Given the description of an element on the screen output the (x, y) to click on. 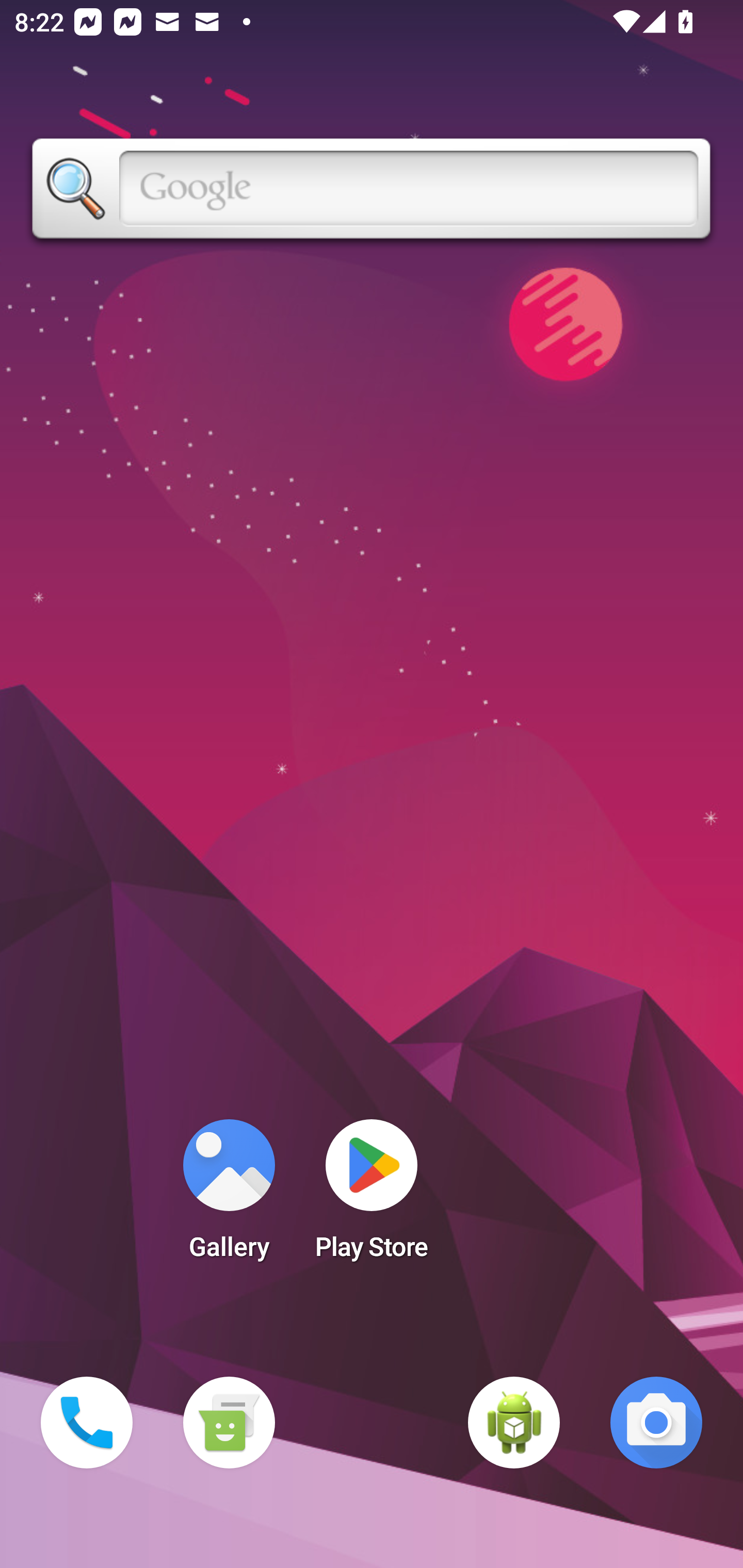
Gallery (228, 1195)
Play Store (371, 1195)
Phone (86, 1422)
Messaging (228, 1422)
WebView Browser Tester (513, 1422)
Camera (656, 1422)
